Given the description of an element on the screen output the (x, y) to click on. 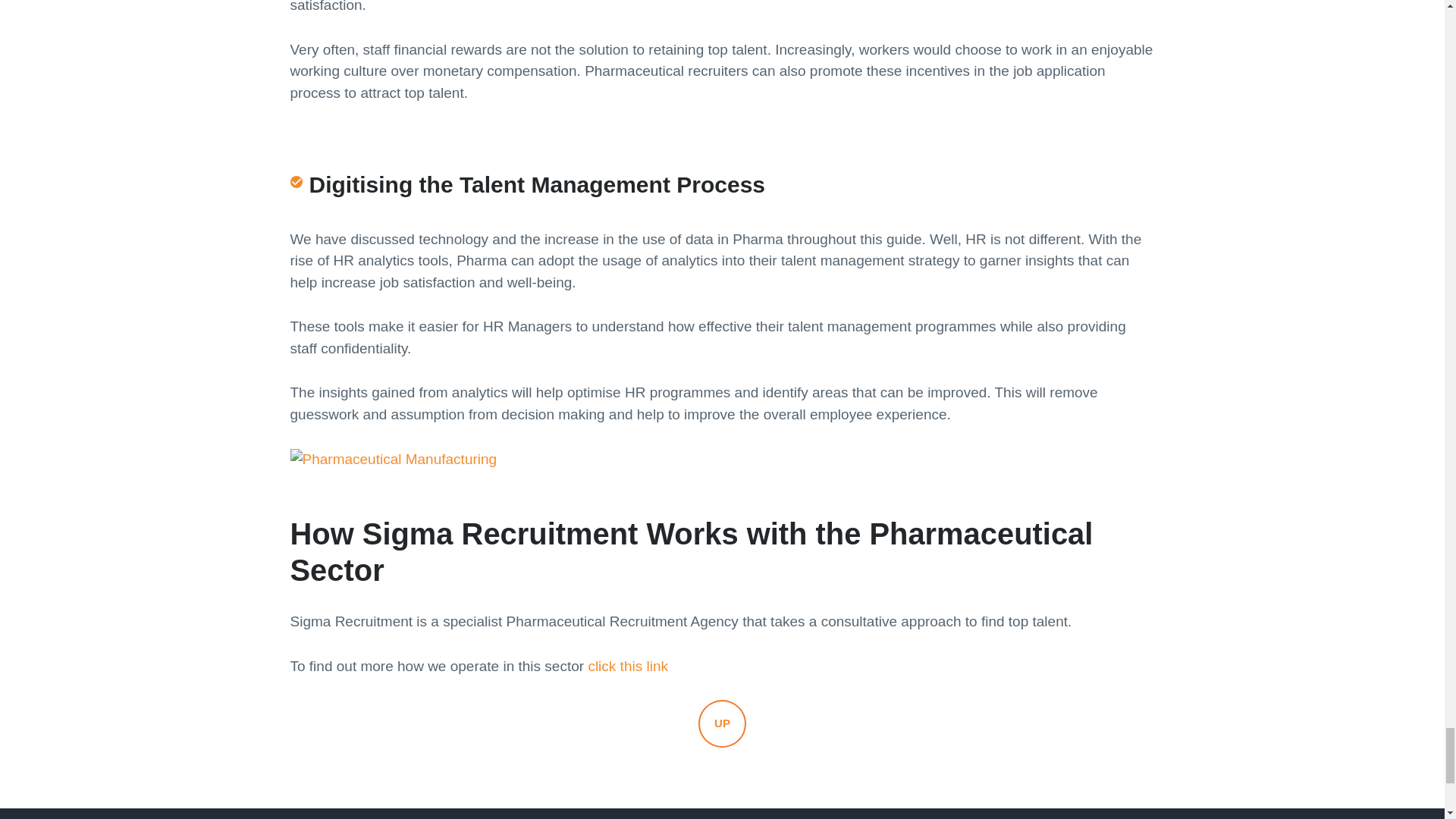
UP (721, 723)
UP (721, 723)
click this link (628, 666)
